Given the description of an element on the screen output the (x, y) to click on. 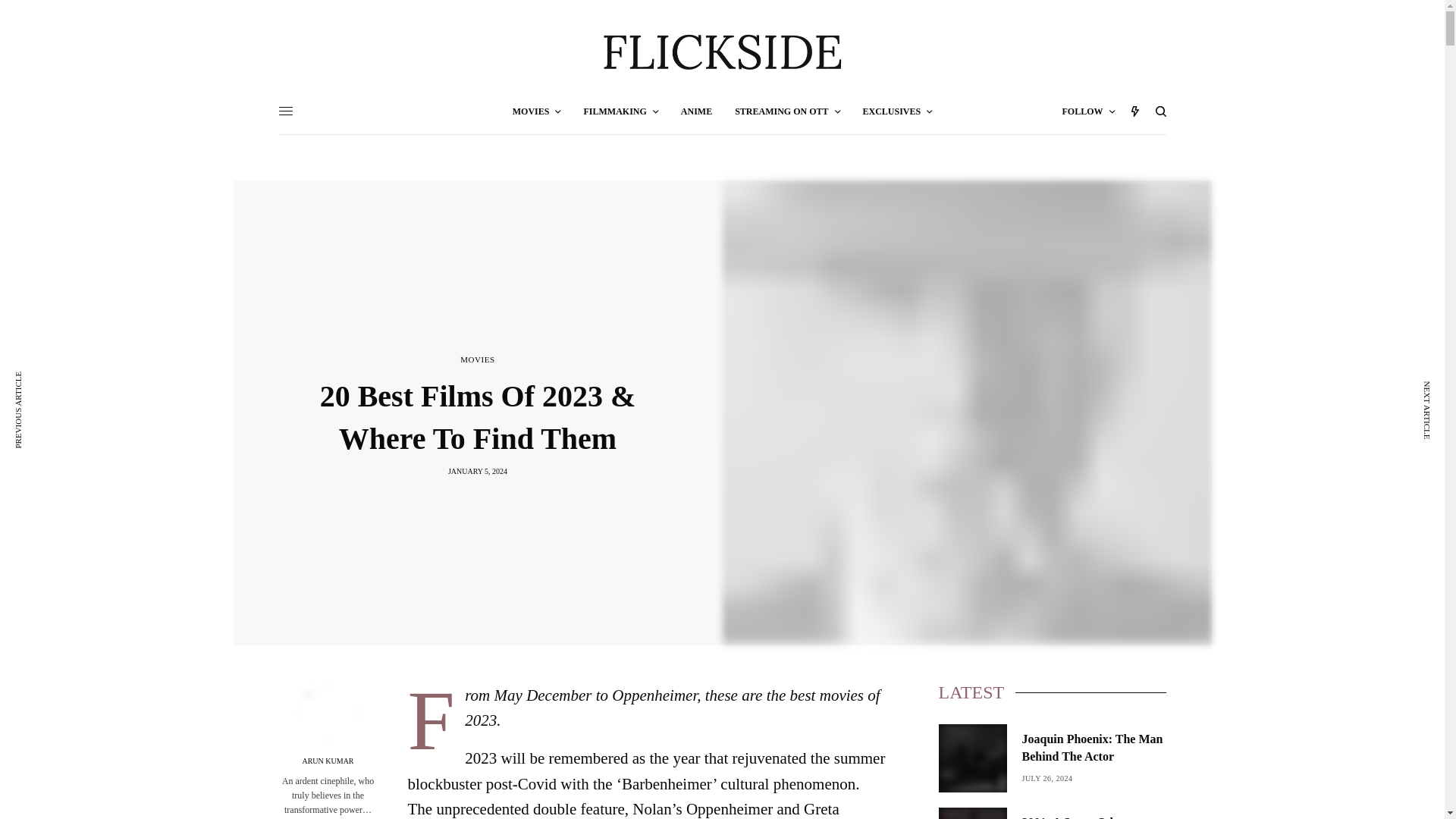
STREAMING ON OTT (787, 111)
EXCLUSIVES (898, 111)
FILMMAKING (620, 111)
2001: A Space Odyssey Explained (1094, 816)
Joaquin Phoenix: The Man Behind The Actor (1094, 747)
MOVIES (536, 111)
Flickside (722, 53)
FOLLOW (1087, 111)
